Given the description of an element on the screen output the (x, y) to click on. 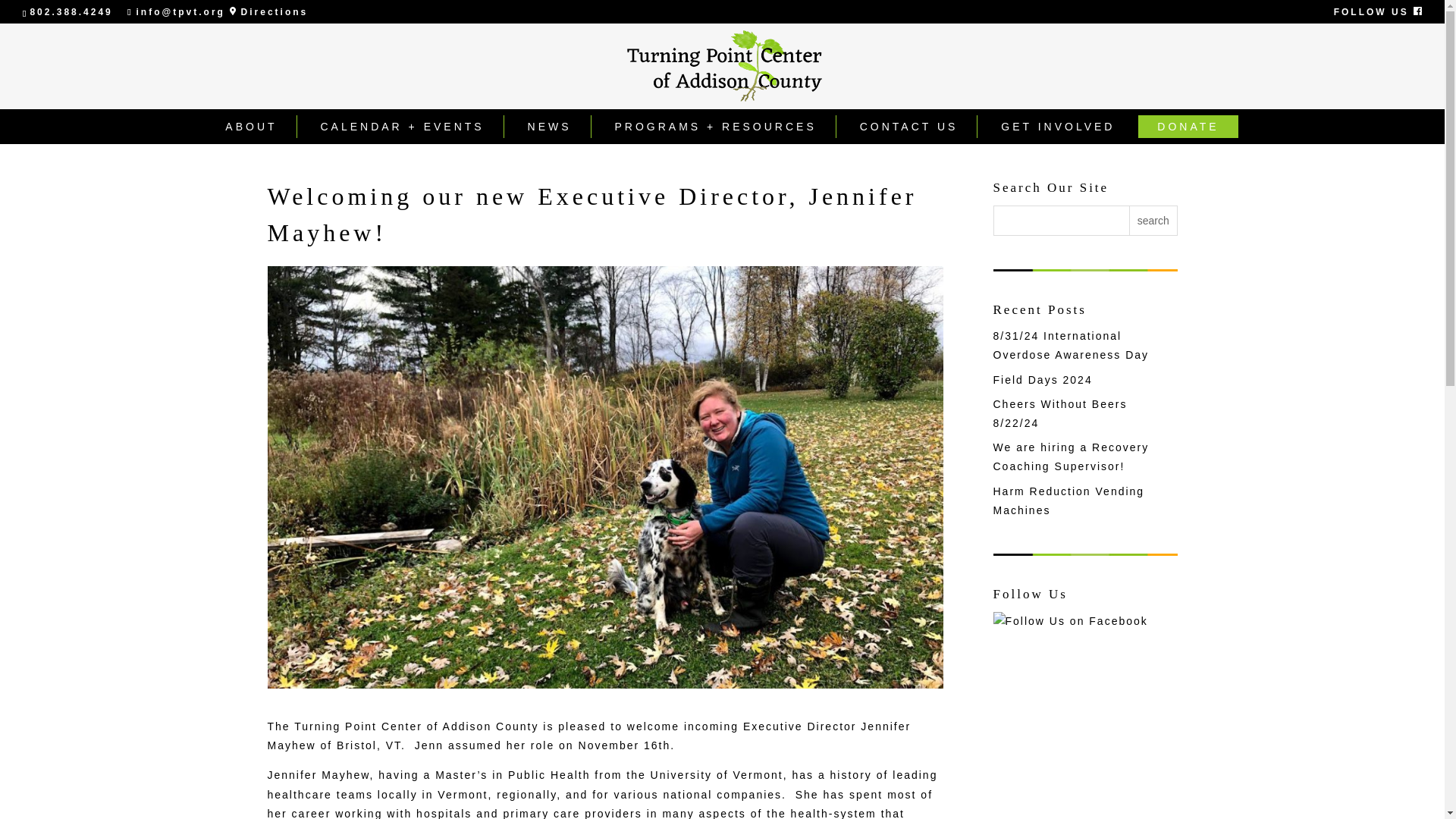
NEWS (549, 126)
ABOUT (251, 126)
802.388.4249 (70, 11)
FOLLOW US (1377, 11)
Directions (268, 11)
CONTACT US (909, 126)
search (1153, 219)
DONATE (1187, 126)
GET INVOLVED (1057, 126)
